Given the description of an element on the screen output the (x, y) to click on. 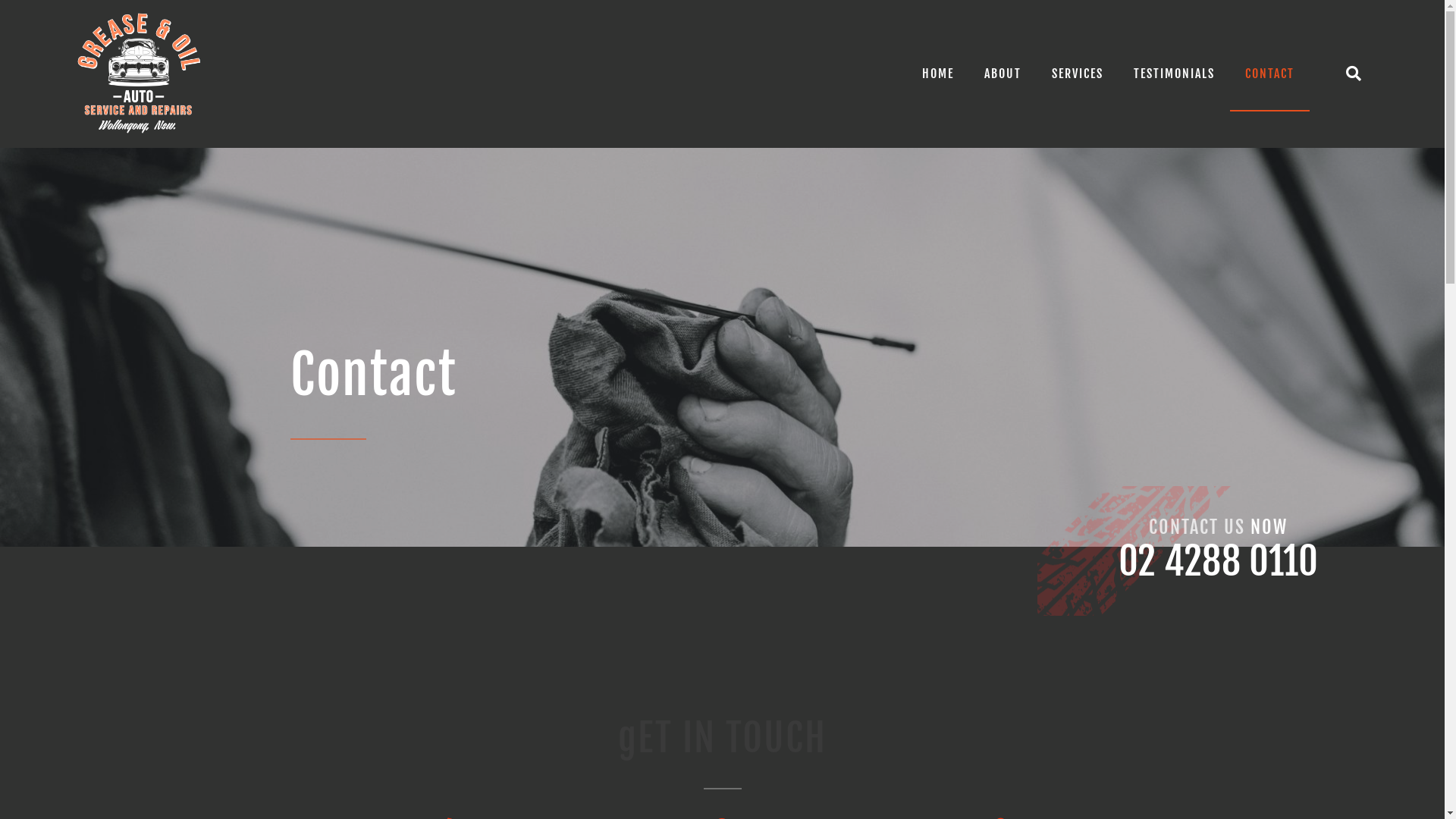
02 4288 0110 Element type: text (1217, 560)
TESTIMONIALS Element type: text (1174, 73)
ABOUT Element type: text (1002, 73)
HOME Element type: text (937, 73)
CONTACT Element type: text (1269, 73)
SERVICES Element type: text (1077, 73)
